Given the description of an element on the screen output the (x, y) to click on. 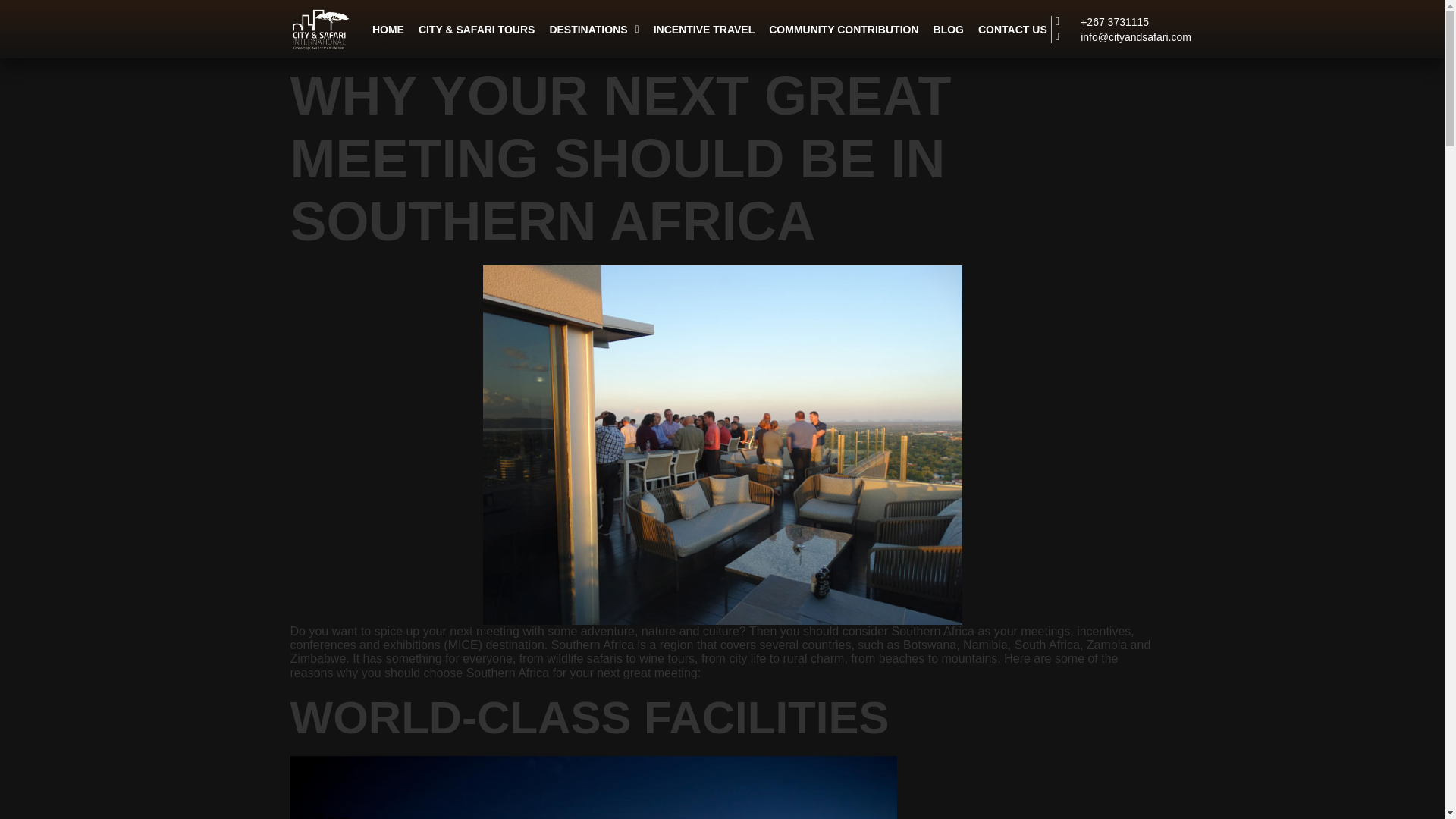
INCENTIVE TRAVEL (704, 29)
BLOG (948, 29)
COMMUNITY CONTRIBUTION (843, 29)
DESTINATIONS (593, 29)
HOME (388, 29)
CONTACT US (1012, 29)
